Given the description of an element on the screen output the (x, y) to click on. 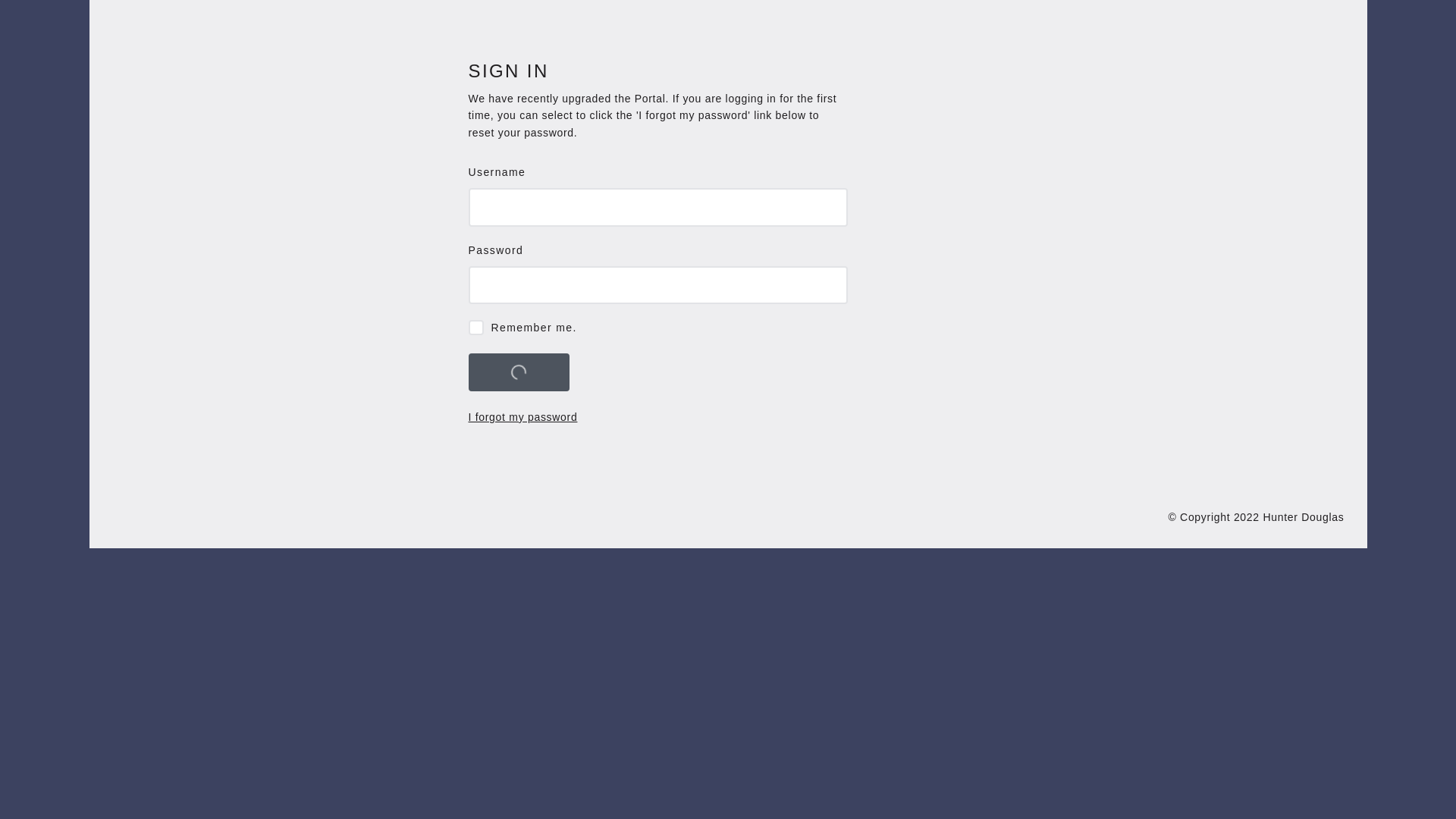
I forgot my password Element type: text (522, 417)
SIGN IN Element type: text (518, 372)
